Given the description of an element on the screen output the (x, y) to click on. 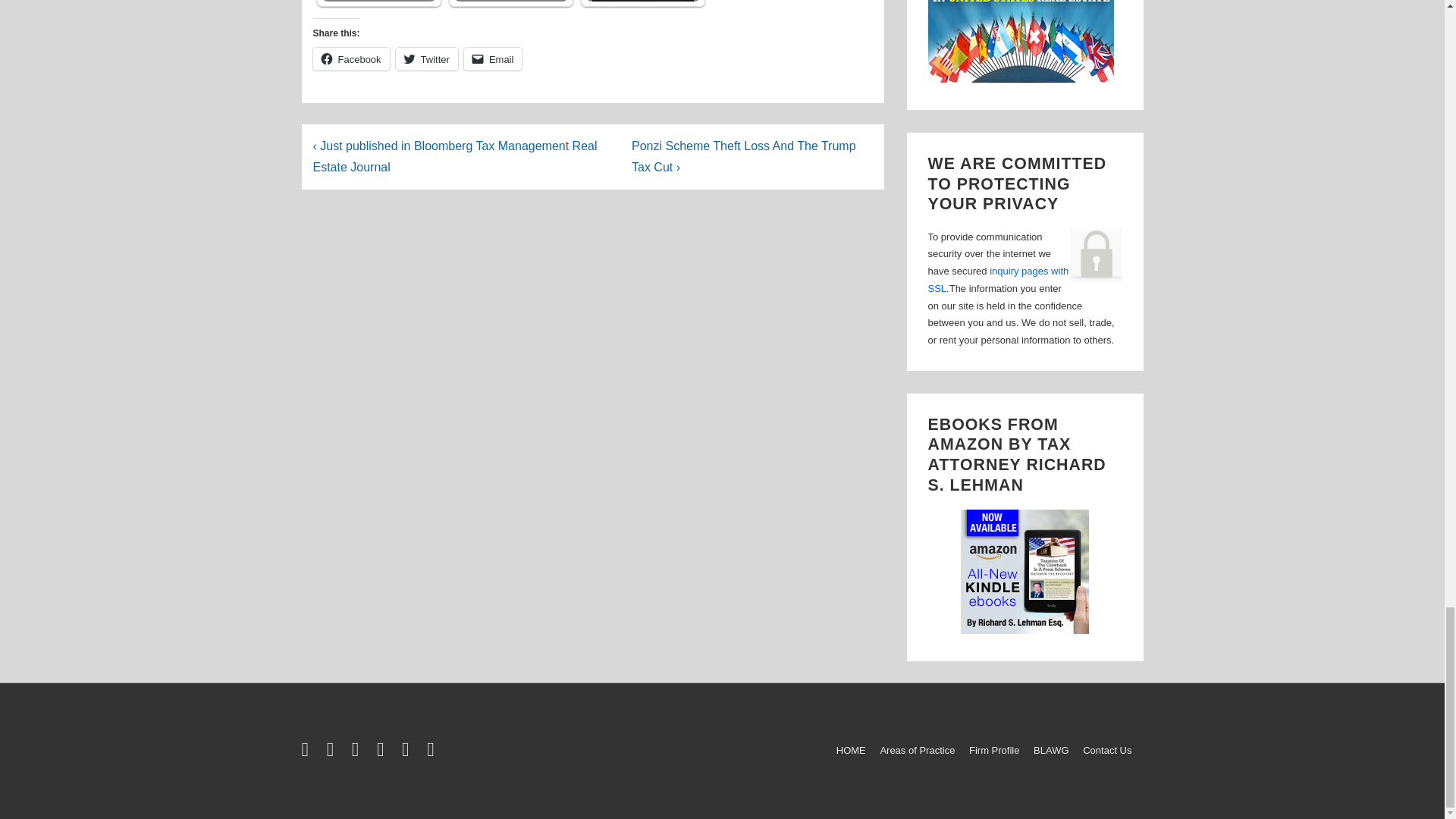
Email (493, 58)
Facebook (350, 58)
Click to email a link to a friend (493, 58)
Twitter (427, 58)
Click to share on Twitter (427, 58)
Click to share on Facebook (350, 58)
Contact Richard S Lehman Tax Attorney (998, 279)
